Given the description of an element on the screen output the (x, y) to click on. 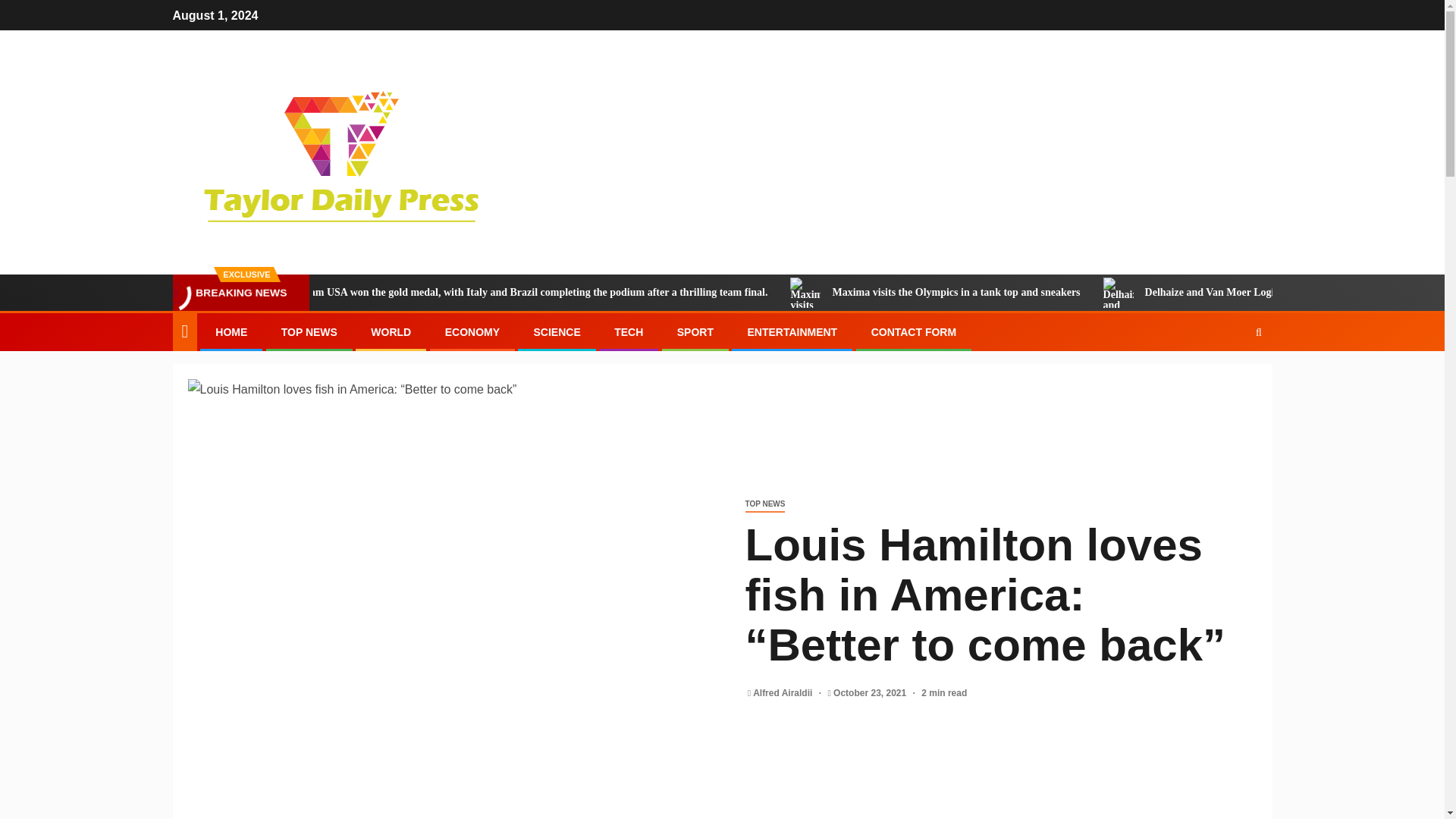
HOME (231, 331)
TECH (628, 331)
TOP NEWS (309, 331)
SCIENCE (555, 331)
Alfred Airaldii (783, 692)
ECONOMY (472, 331)
ENTERTAINMENT (791, 331)
CONTACT FORM (913, 331)
Search (1229, 378)
TOP NEWS (764, 504)
SPORT (695, 331)
Maxima visits the Olympics in a tank top and sneakers (1077, 292)
WORLD (390, 331)
